Given the description of an element on the screen output the (x, y) to click on. 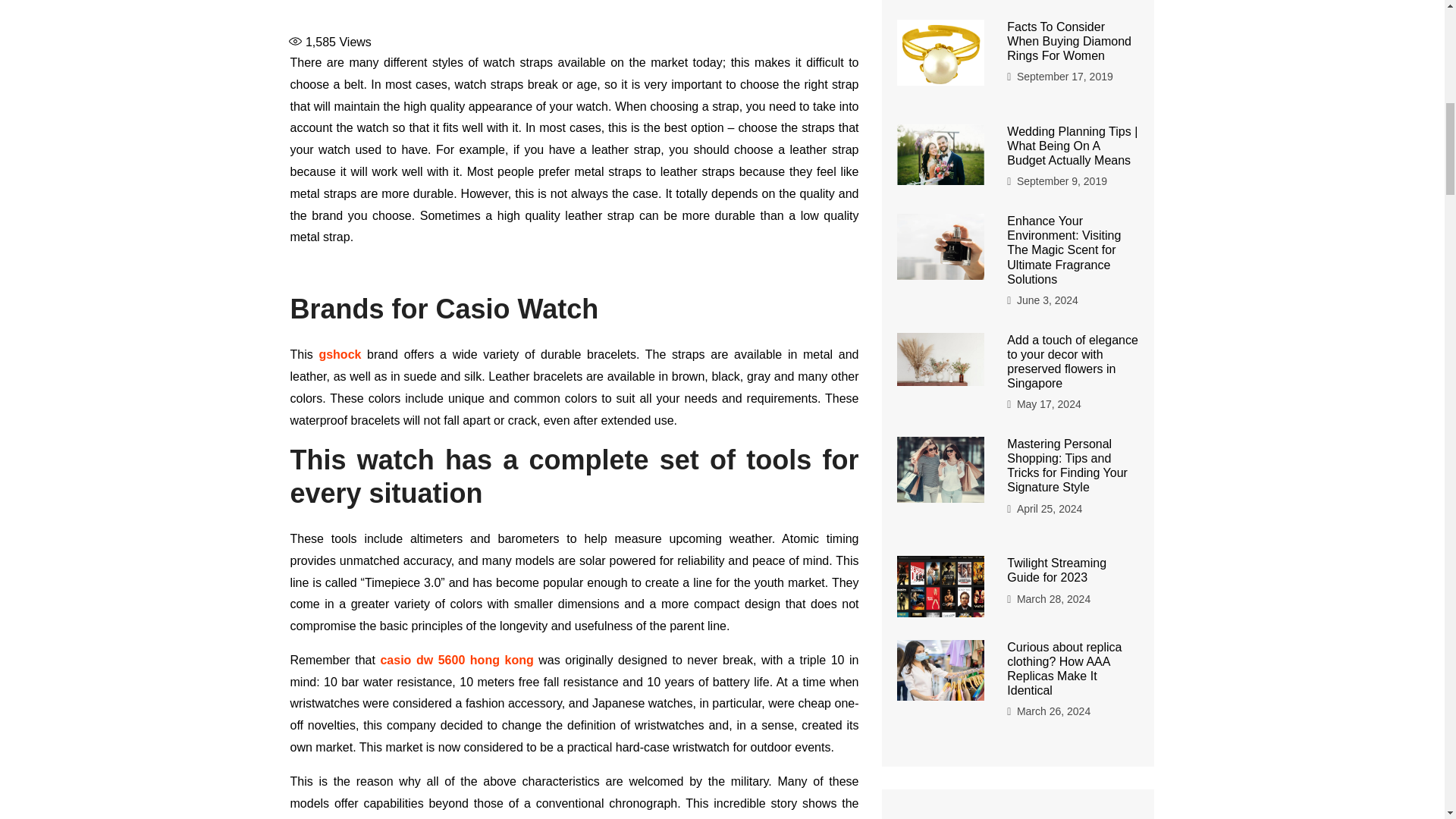
casio dw 5600 hong kong (456, 659)
gshock (339, 354)
